Given the description of an element on the screen output the (x, y) to click on. 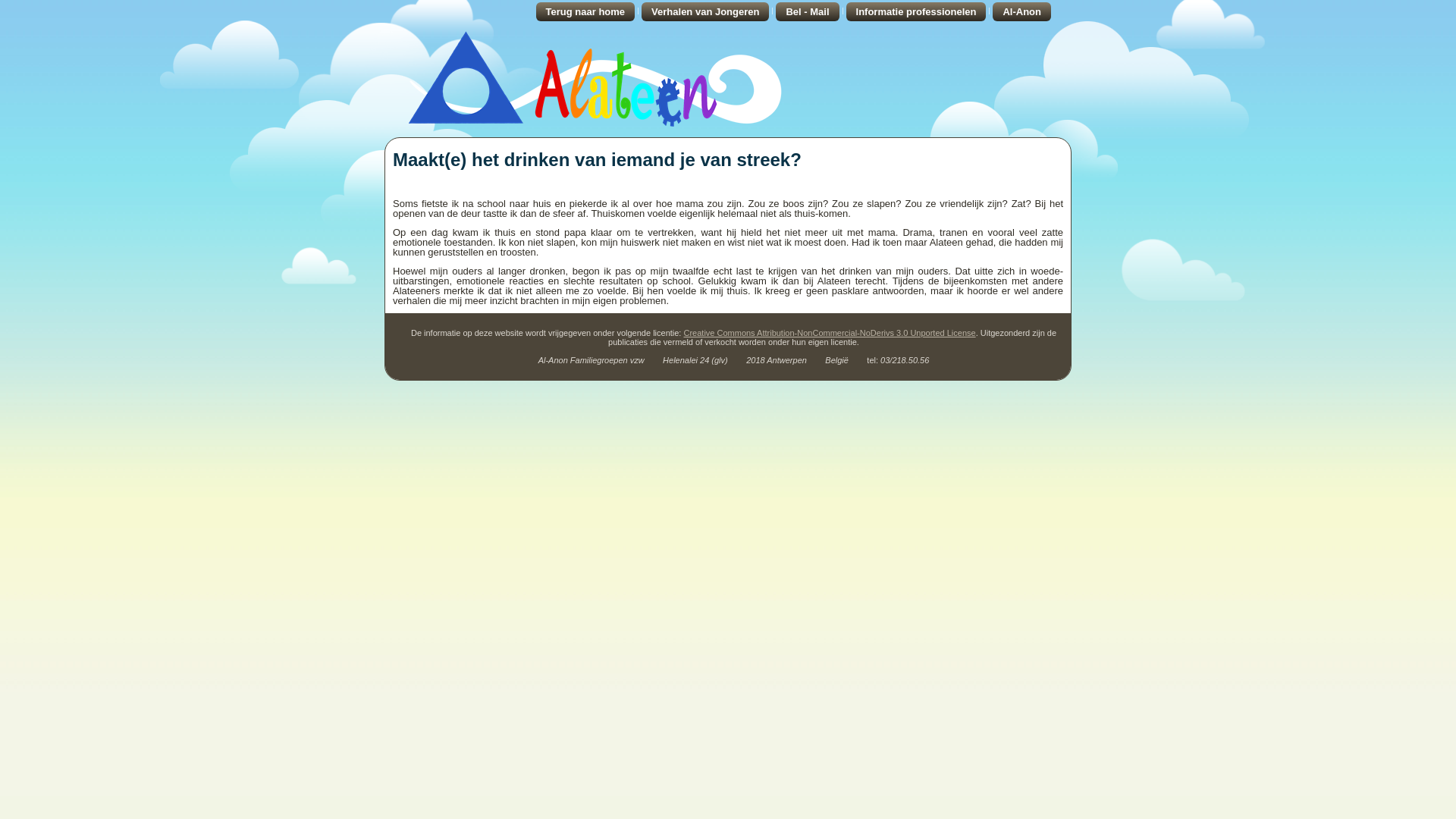
Terug naar home Element type: text (585, 11)
Verhalen van Jongeren Element type: text (704, 11)
Al-Anon Element type: text (1021, 11)
Informatie professionelen Element type: text (916, 11)
Bel - Mail Element type: text (806, 11)
